Given the description of an element on the screen output the (x, y) to click on. 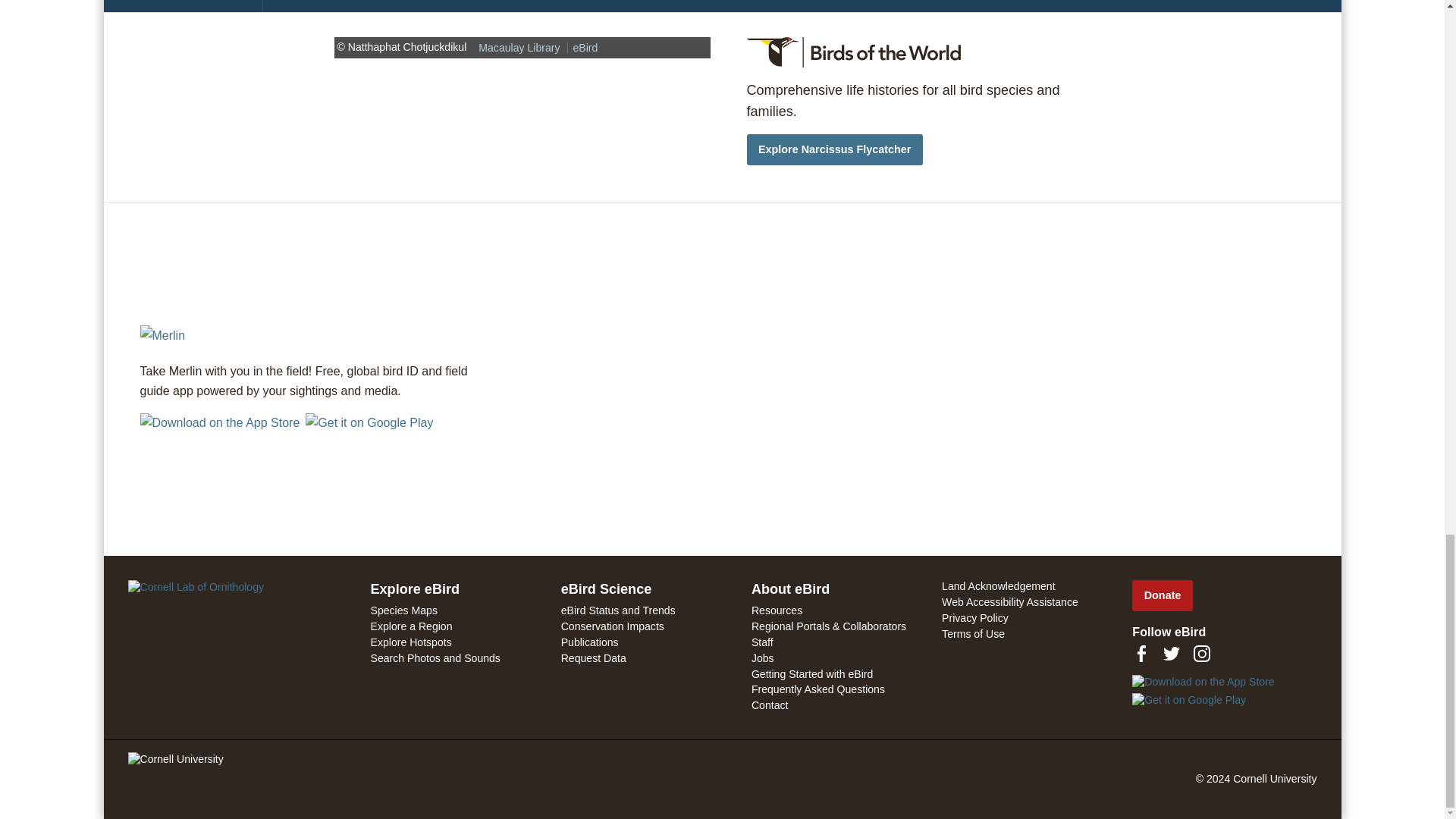
Follow us on Instagram (1201, 653)
Find us on Facebook (1141, 653)
Follow us on Twitter (1170, 653)
